Given the description of an element on the screen output the (x, y) to click on. 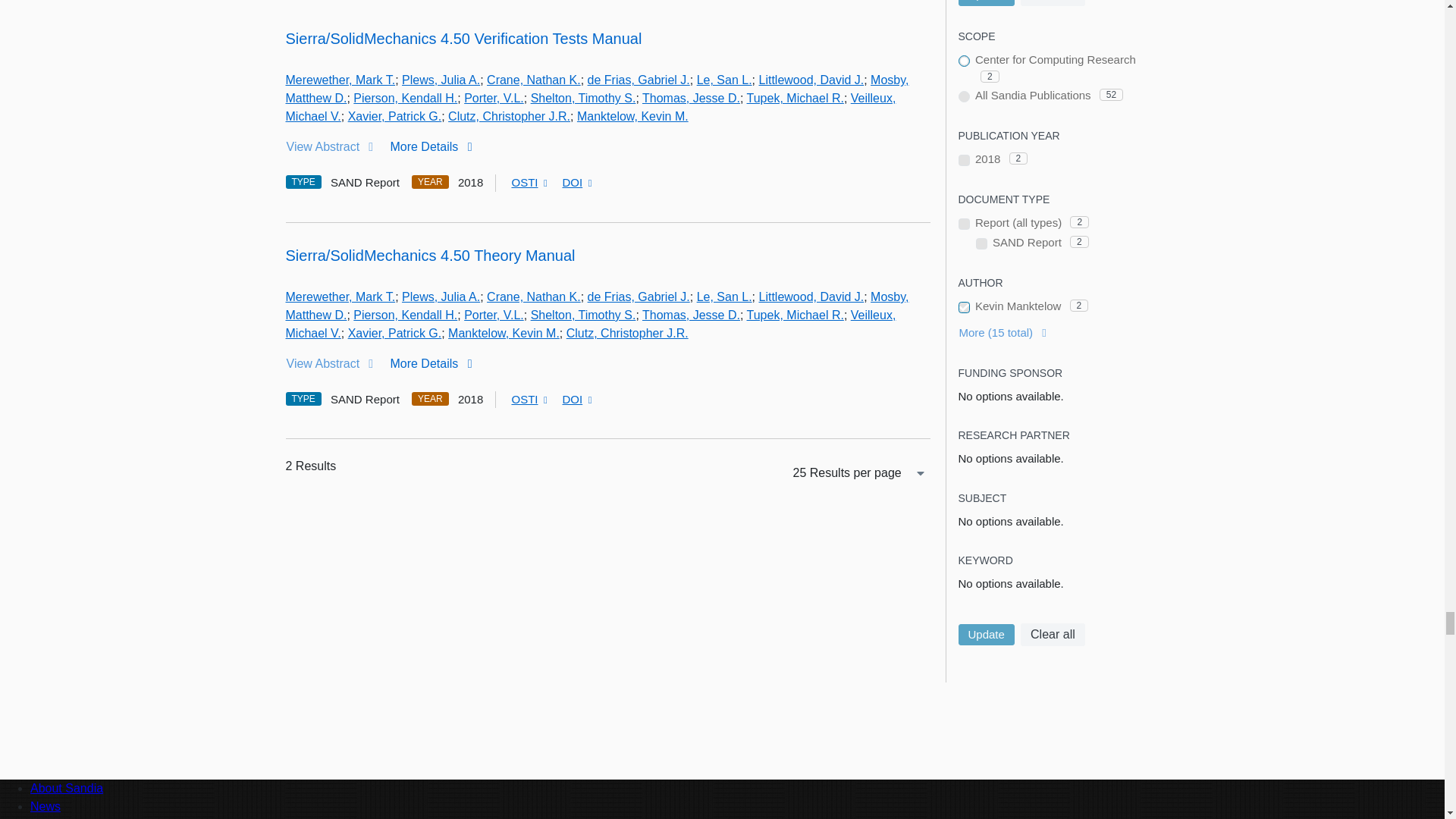
September 1, 2018 (470, 182)
Manktelow, Kevin M. (632, 115)
Thomas, Jesse D. (690, 97)
Clutz, Christopher J.R. (509, 115)
Merewether, Mark T. (339, 79)
site (963, 60)
Shelton, Timothy S. (583, 97)
September 1, 2018 (470, 399)
5 (963, 224)
View Abstract (335, 146)
Porter, V.L. (494, 97)
Crane, Nathan K. (533, 79)
2018 (963, 160)
Mosby, Matthew D. (596, 88)
Pierson, Kendall H. (405, 97)
